Given the description of an element on the screen output the (x, y) to click on. 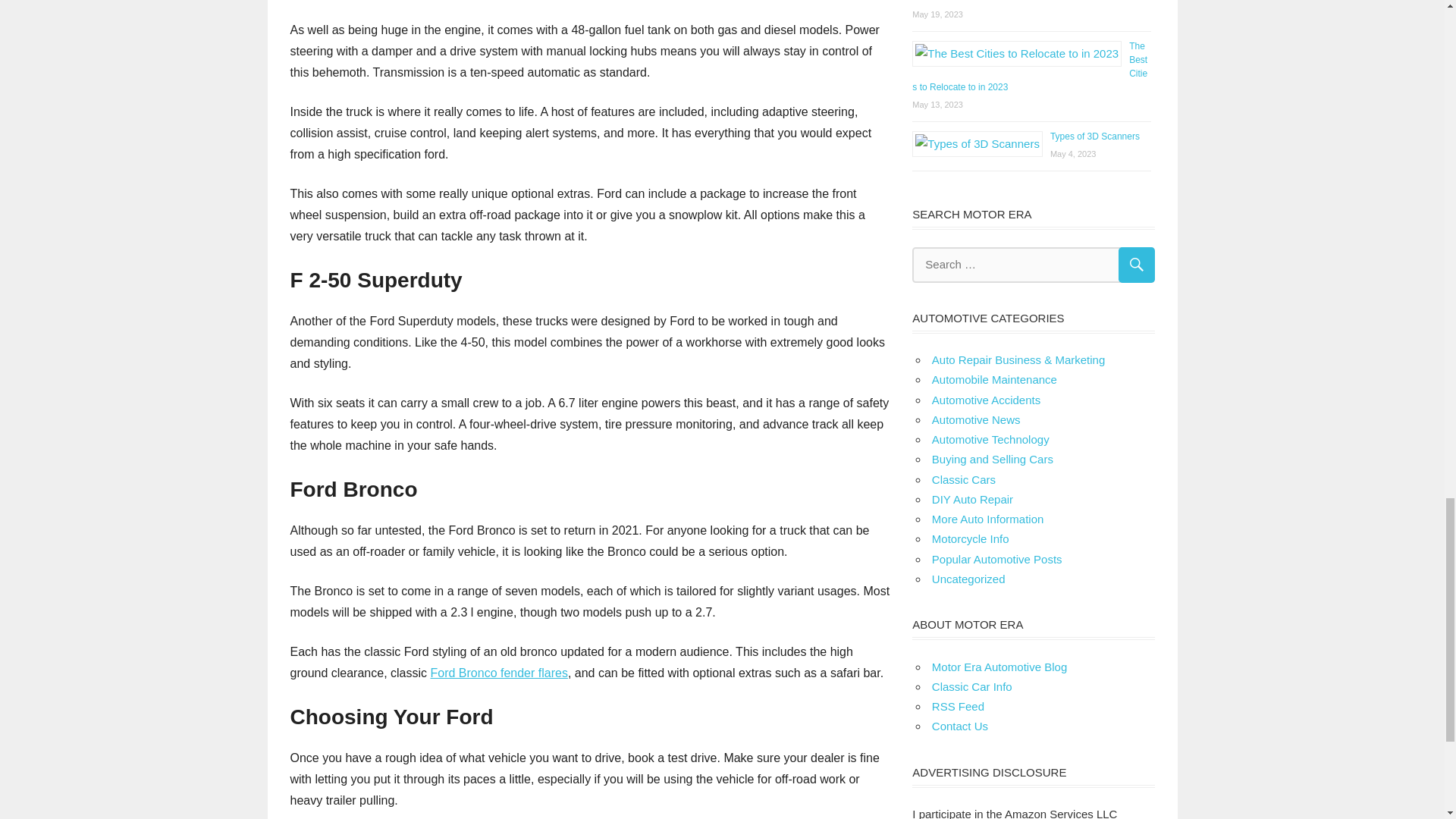
Permalink to The Best Cities to Relocate to in 2023 (1029, 66)
Permalink to Types of 3D Scanners (1094, 136)
Ford Bronco fender flares (498, 672)
Search for: (1033, 264)
